Given the description of an element on the screen output the (x, y) to click on. 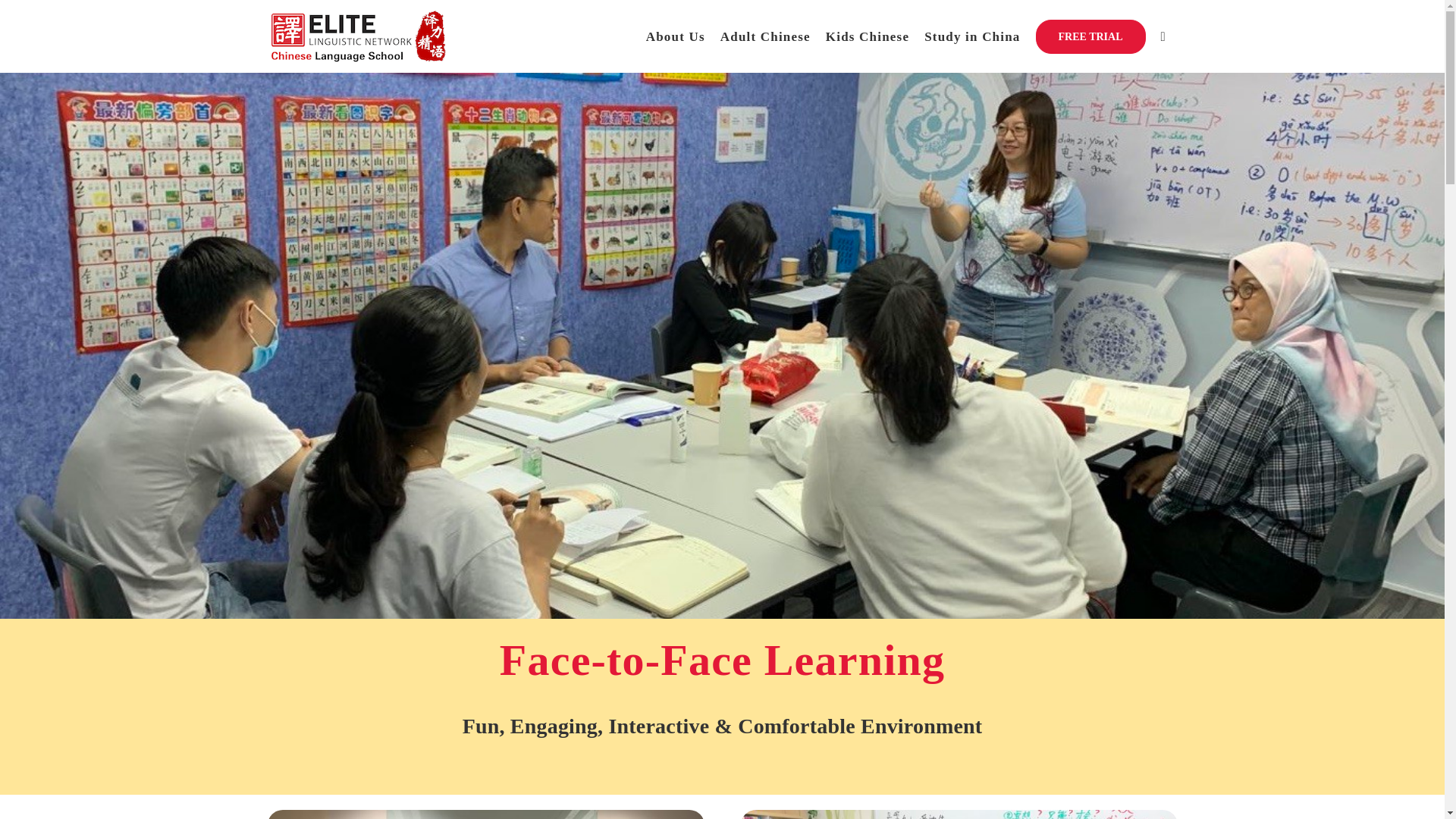
Adult Chinese (765, 36)
Study in China (972, 36)
Kids Chinese (866, 36)
Photo 24-2-20, 9 33 21 PM (484, 814)
Fun Chinese Learning for Kids (866, 36)
Private lesson 3 (957, 814)
